Given the description of an element on the screen output the (x, y) to click on. 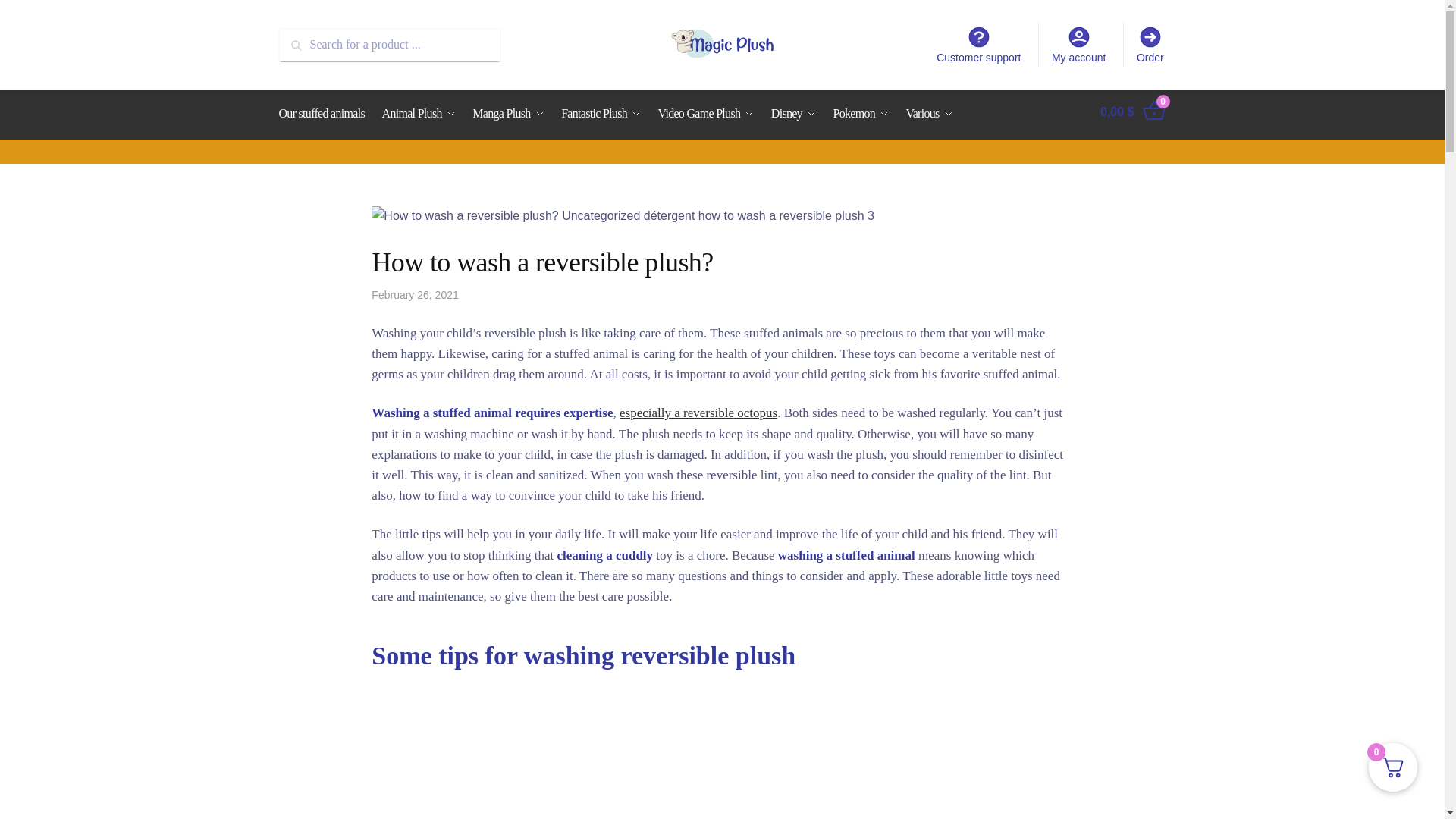
Our stuffed animals (325, 113)
Animal Plush (419, 113)
Order (1149, 44)
Customer support (978, 44)
My account (1078, 44)
Search (300, 38)
